Given the description of an element on the screen output the (x, y) to click on. 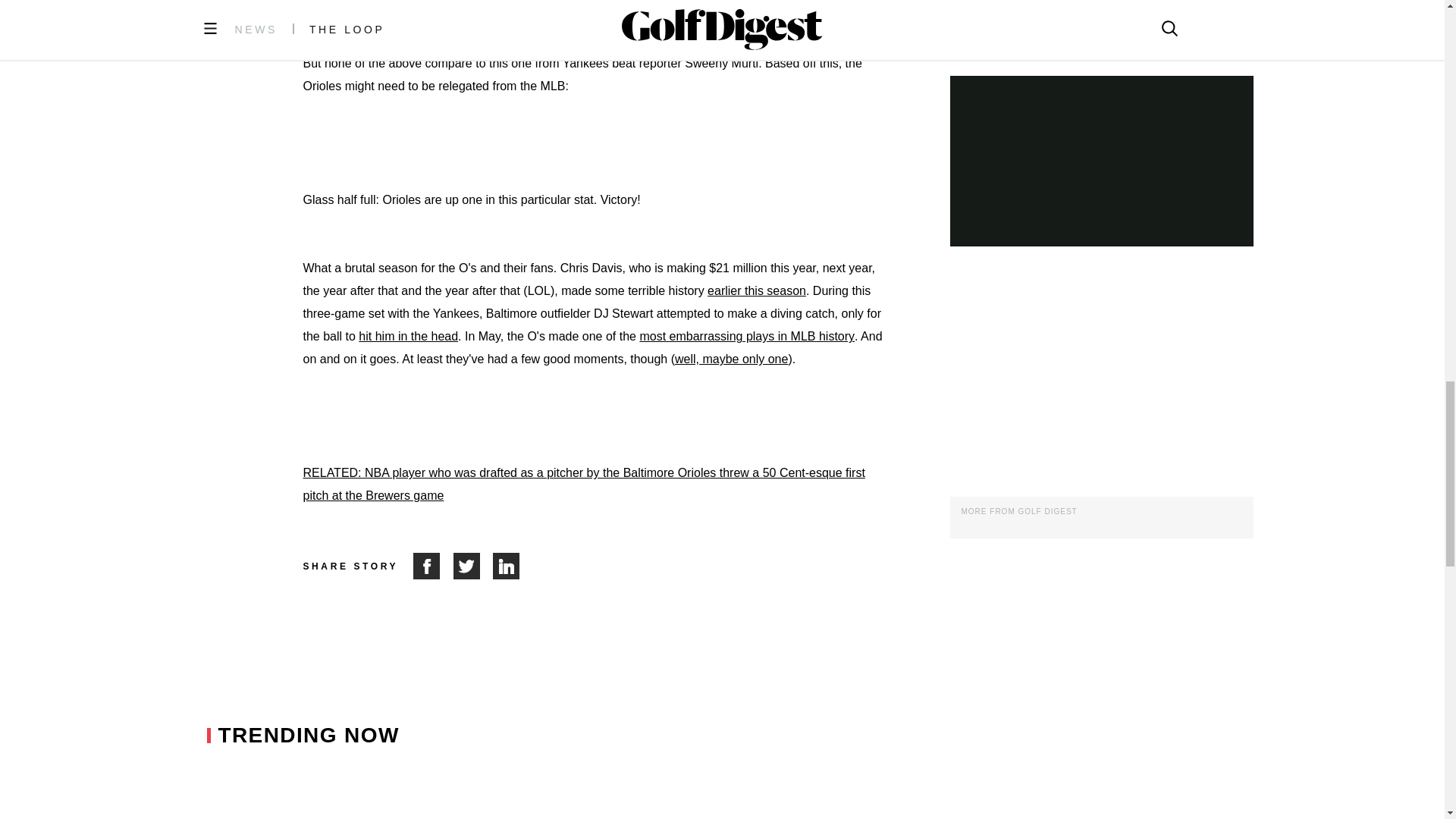
Share on LinkedIn (506, 565)
Share on Twitter (472, 565)
Share on Facebook (432, 565)
